Given the description of an element on the screen output the (x, y) to click on. 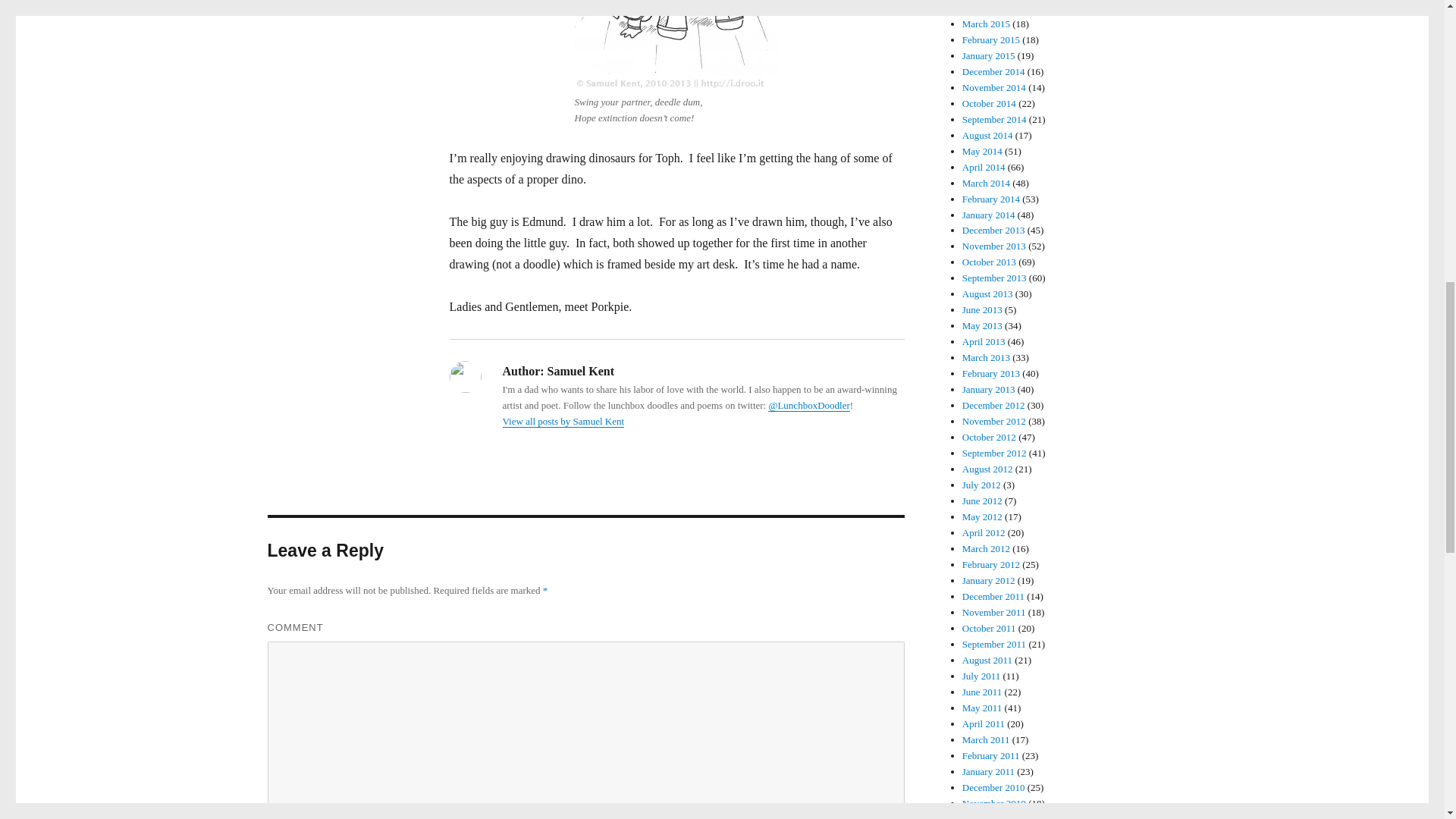
Jurassic Pickers (676, 44)
View all posts by Samuel Kent (563, 420)
